Given the description of an element on the screen output the (x, y) to click on. 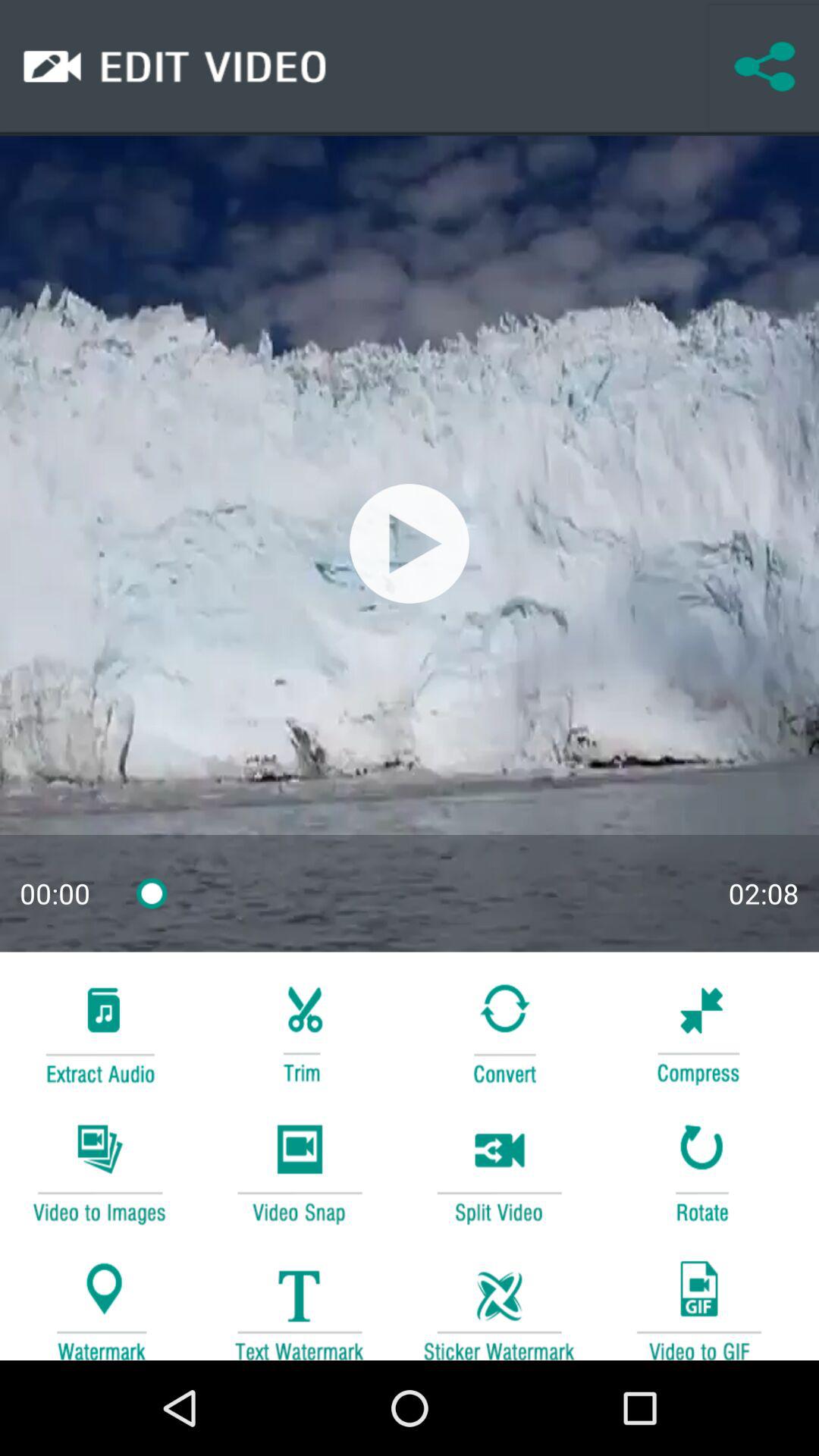
to take snap of a video (299, 1171)
